Given the description of an element on the screen output the (x, y) to click on. 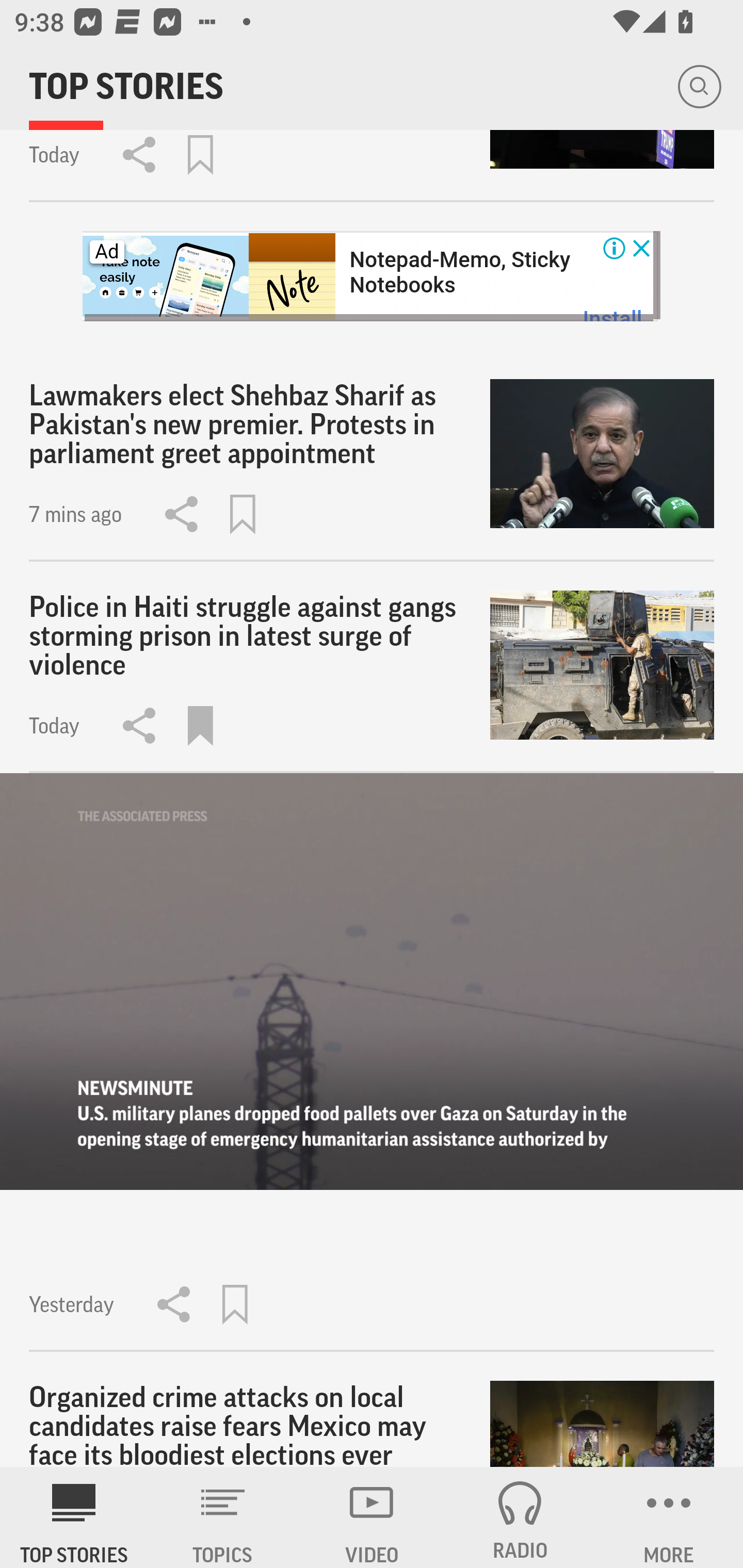
Notepad-Memo, Sticky Notebooks (459, 272)
toggle controls Yesterday (371, 1062)
toggle controls (371, 981)
AP News TOP STORIES (74, 1517)
TOPICS (222, 1517)
VIDEO (371, 1517)
RADIO (519, 1517)
MORE (668, 1517)
